Given the description of an element on the screen output the (x, y) to click on. 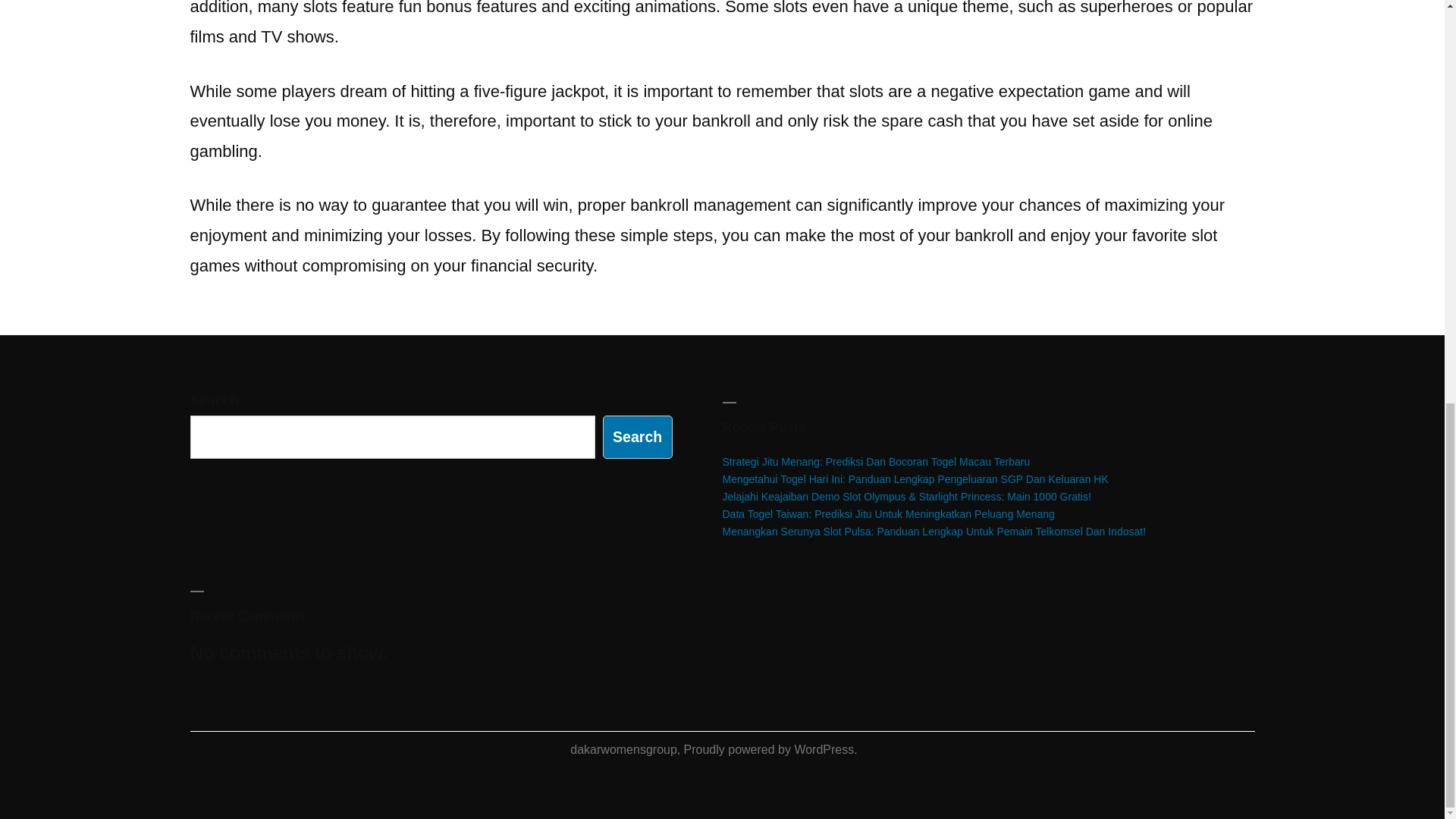
Search (637, 436)
Proudly powered by WordPress. (770, 748)
dakarwomensgroup (623, 748)
